Given the description of an element on the screen output the (x, y) to click on. 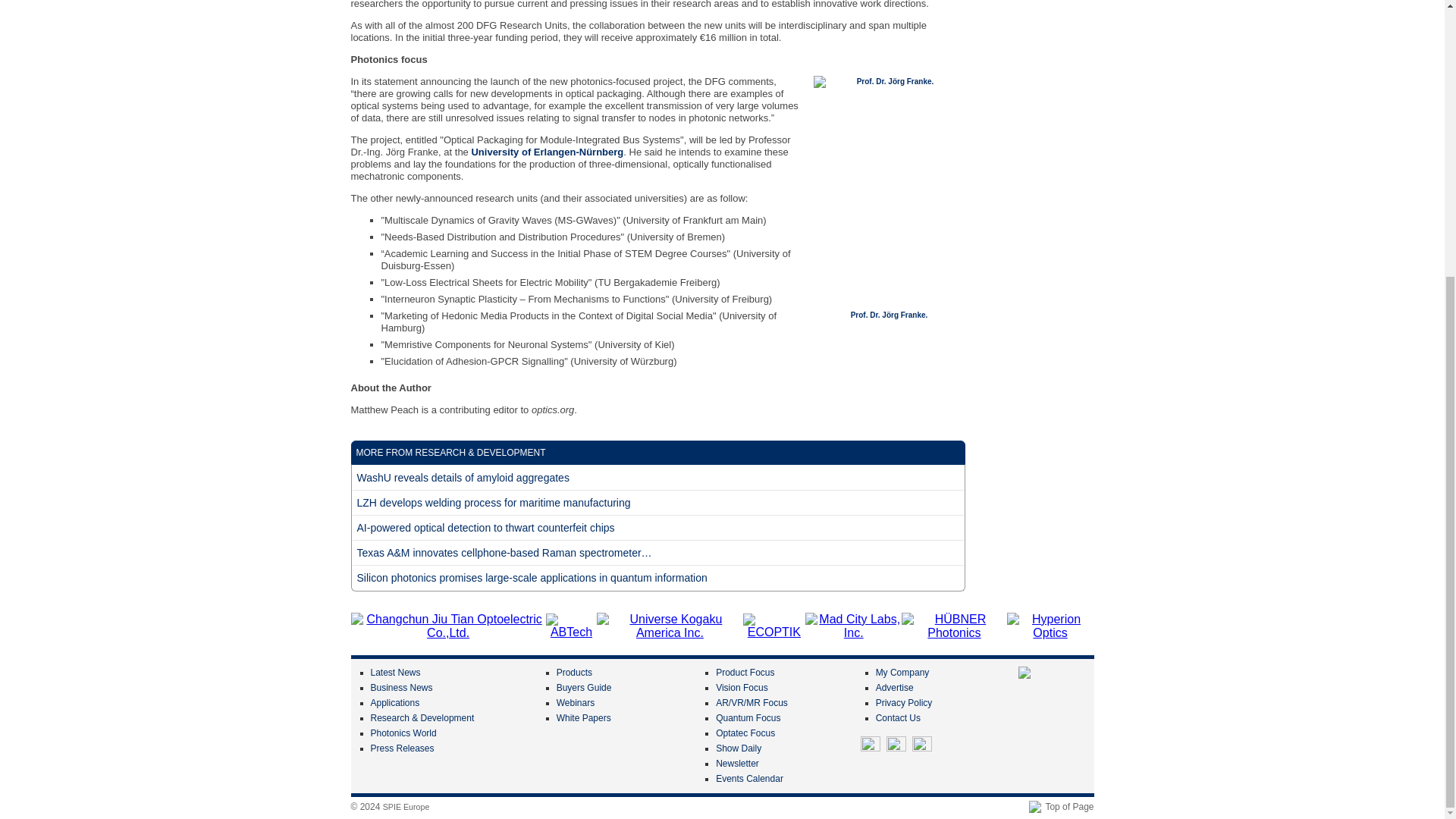
RSS Feeds (921, 745)
LinkedIn (895, 745)
Twitter (870, 745)
